Given the description of an element on the screen output the (x, y) to click on. 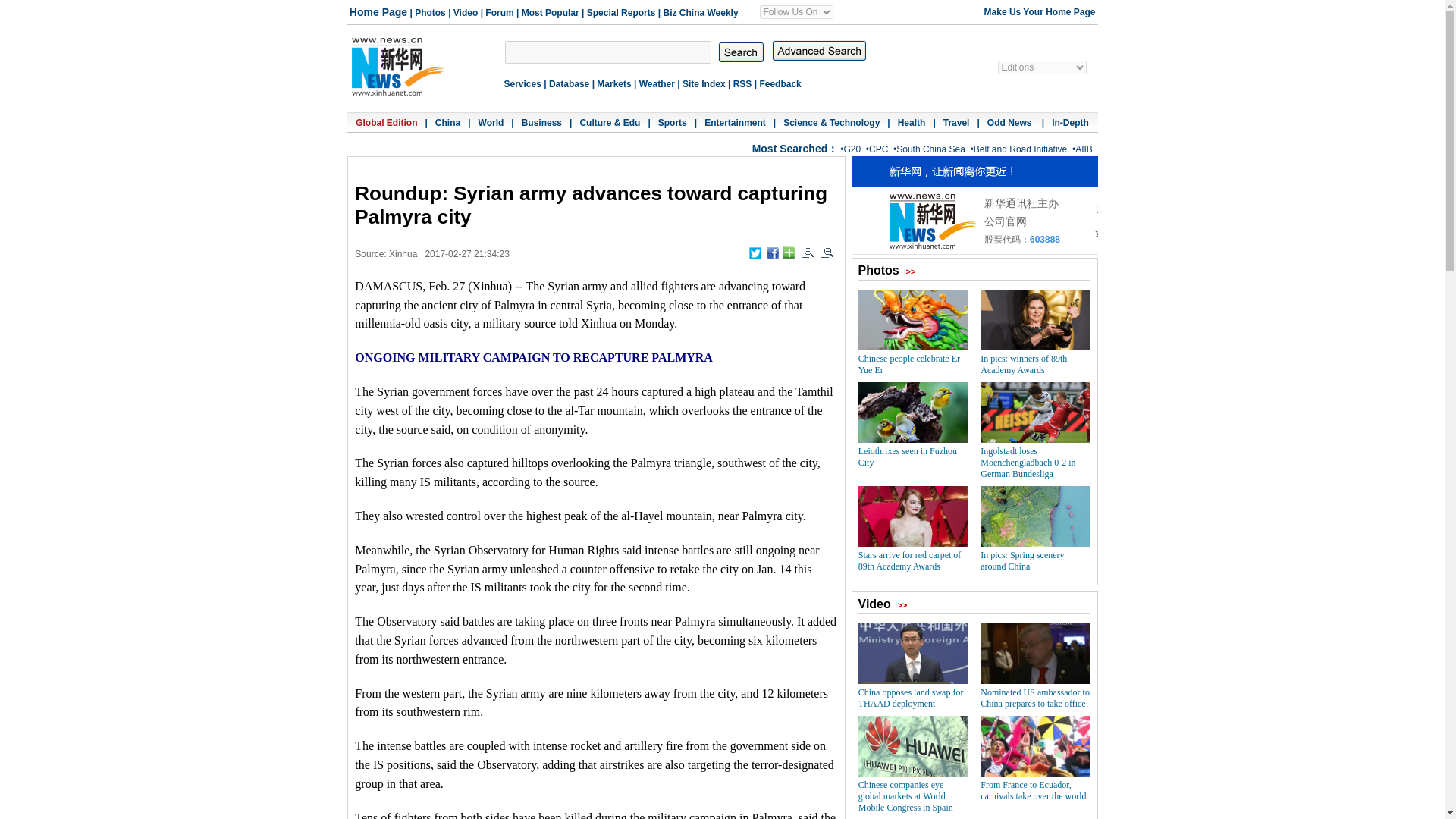
Travel (956, 122)
China (447, 122)
In-Depth (1070, 122)
Odd News (1010, 122)
Belt and Road Initiative (1020, 149)
CPC (878, 149)
Most Popular (550, 12)
Business (541, 122)
World (491, 122)
Site Index (703, 83)
RSS (742, 83)
G20 (851, 149)
South China Sea (930, 149)
More (788, 252)
Photos (429, 12)
